Given the description of an element on the screen output the (x, y) to click on. 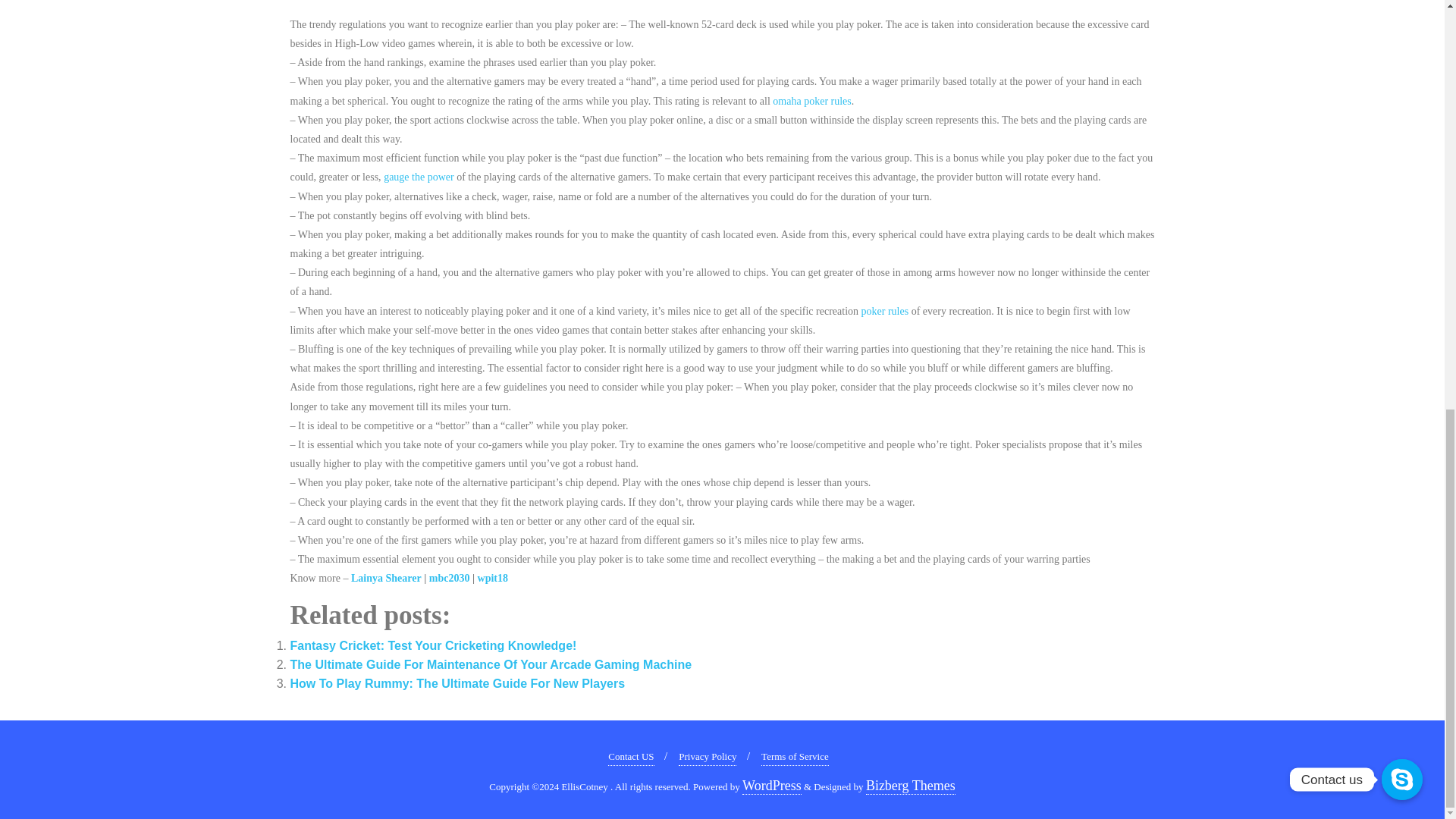
How To Play Rummy: The Ultimate Guide For New Players (456, 683)
gauge the power (419, 176)
Fantasy Cricket: Test Your Cricketing Knowledge! (432, 645)
mbc2030 (449, 577)
poker rules (884, 310)
omaha poker rules (811, 101)
How To Play Rummy: The Ultimate Guide For New Players (456, 683)
Lainya Shearer (386, 577)
Fantasy Cricket: Test Your Cricketing Knowledge! (432, 645)
wpit18 (492, 577)
